Given the description of an element on the screen output the (x, y) to click on. 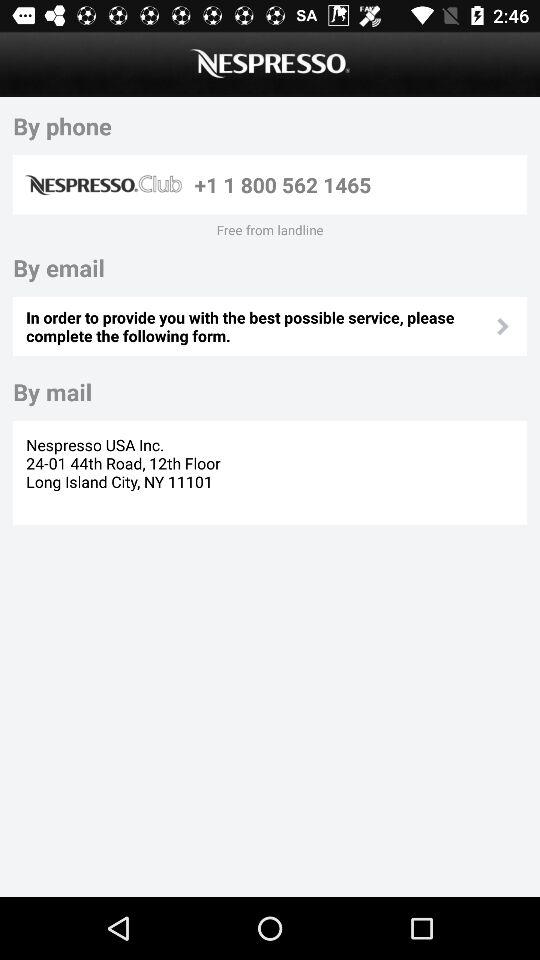
launch the icon below by email (259, 326)
